Given the description of an element on the screen output the (x, y) to click on. 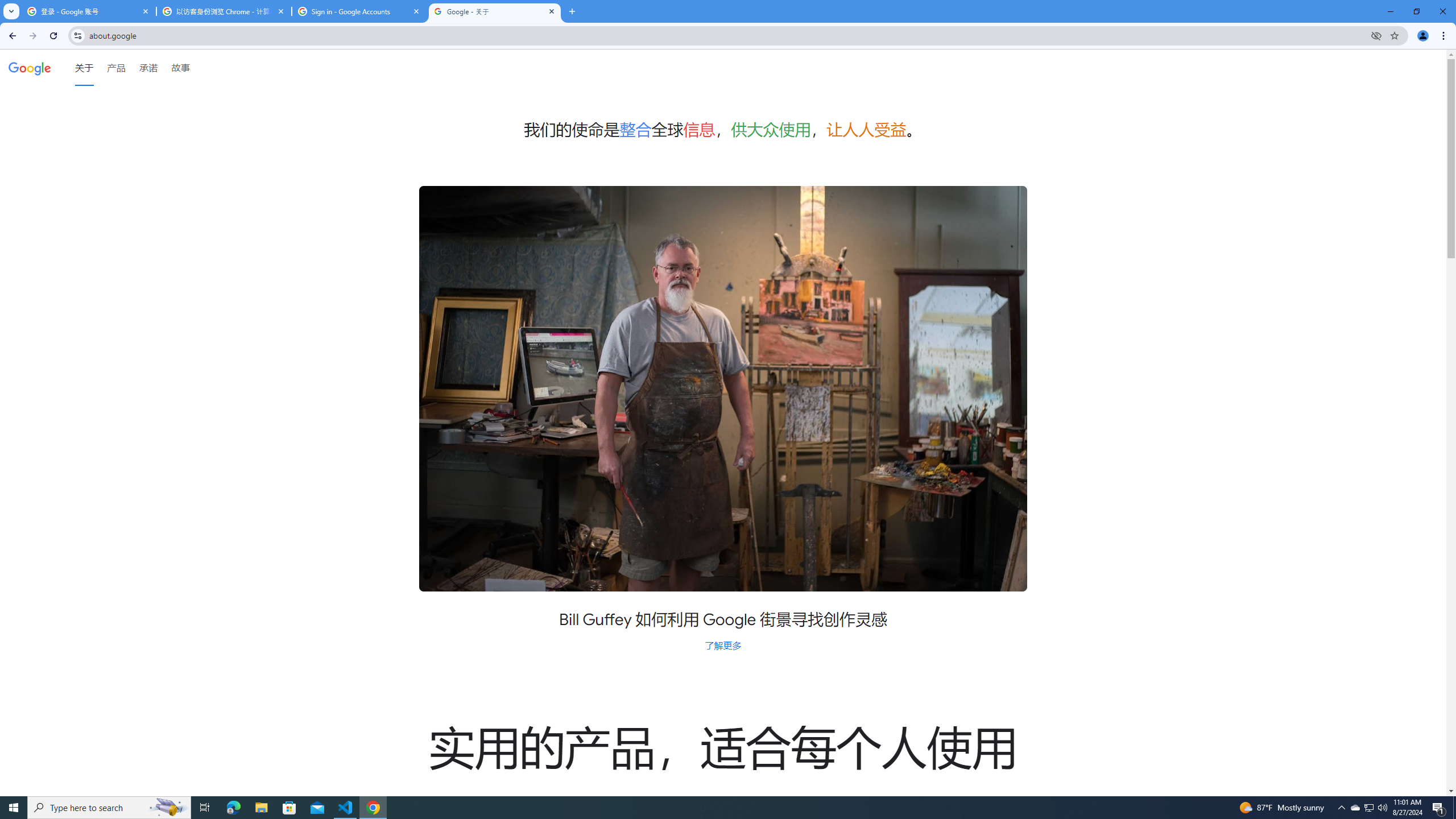
Google (29, 67)
